Given the description of an element on the screen output the (x, y) to click on. 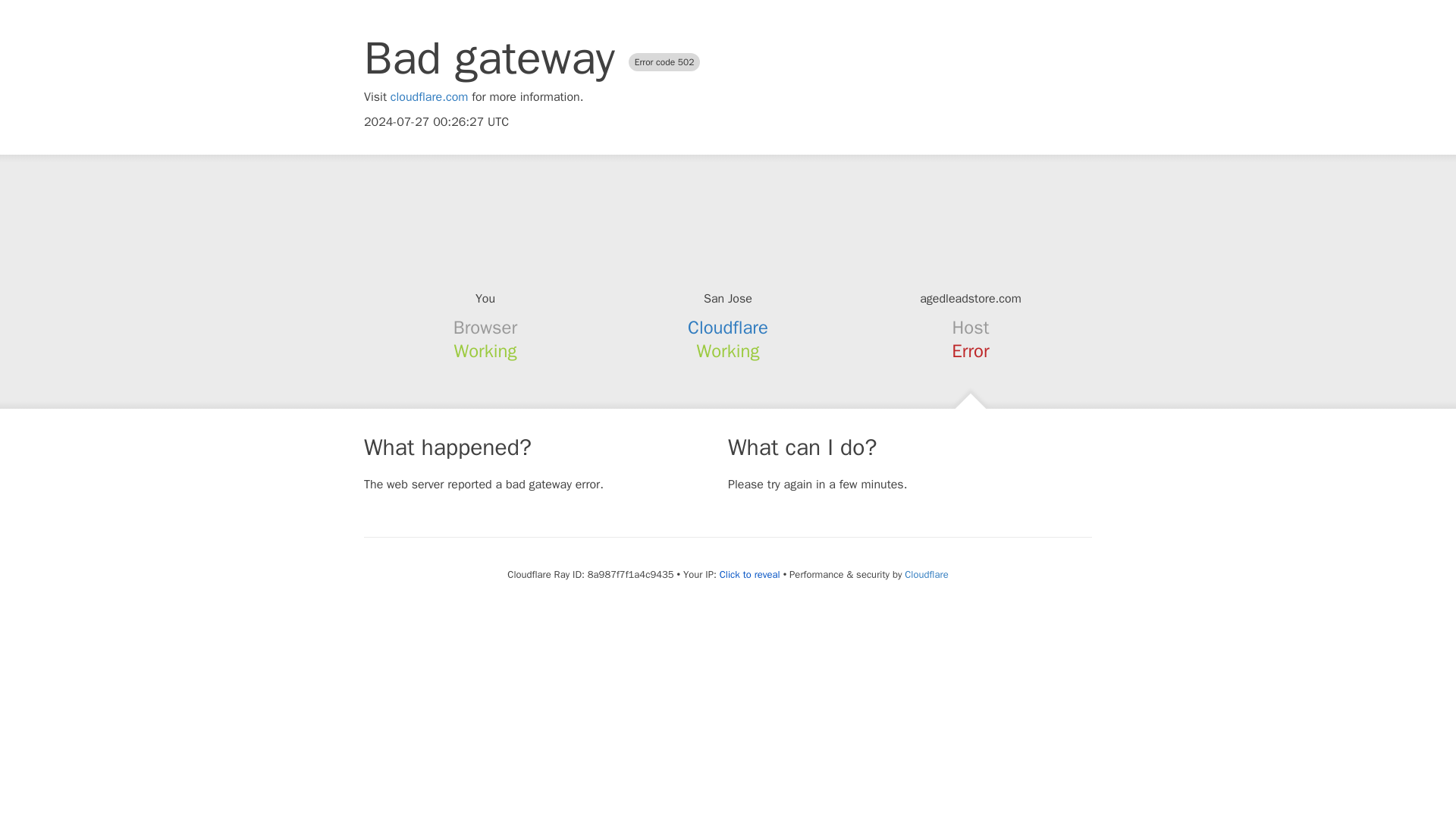
cloudflare.com (429, 96)
Click to reveal (749, 574)
Cloudflare (727, 327)
Cloudflare (925, 574)
